Given the description of an element on the screen output the (x, y) to click on. 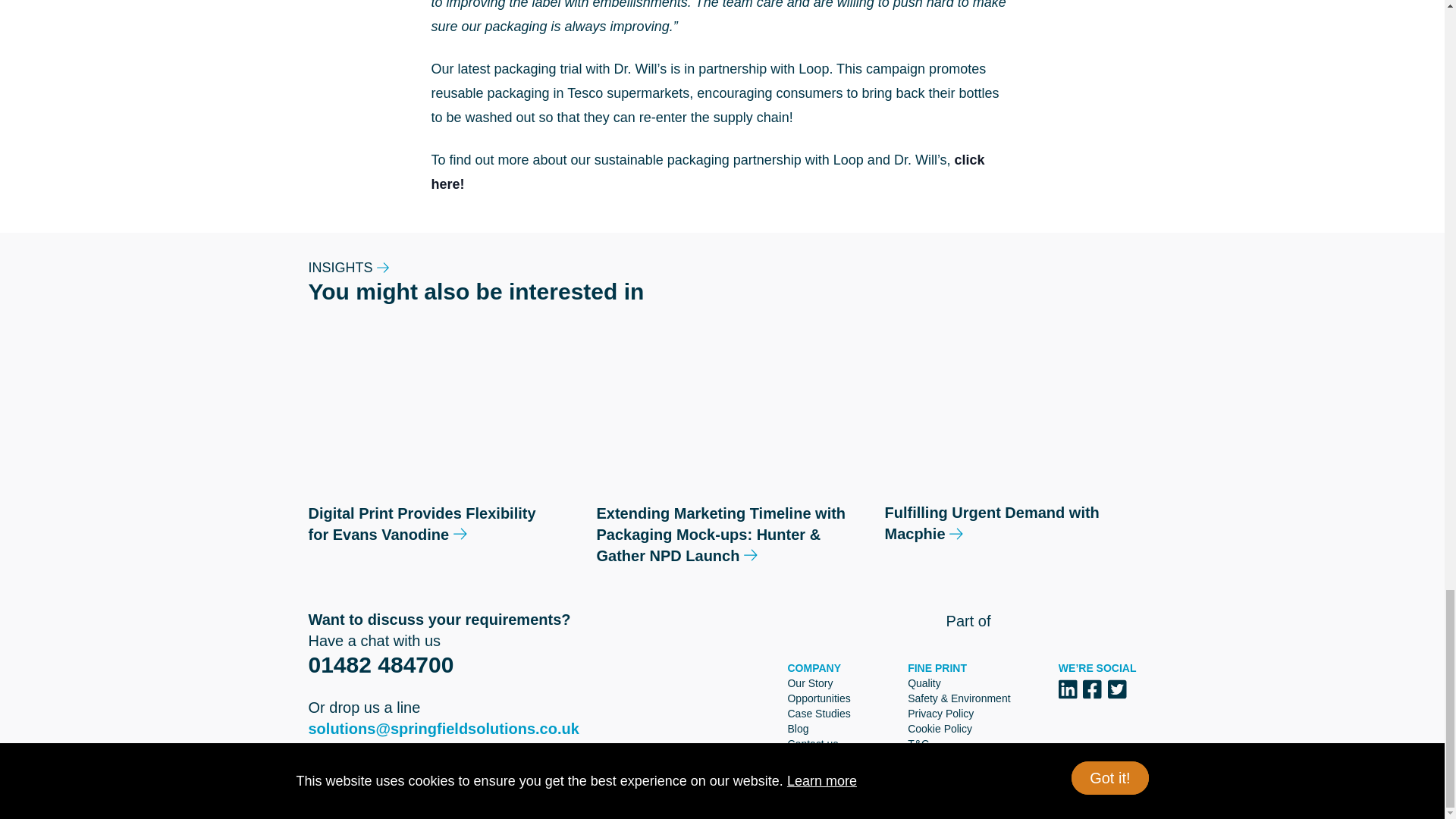
01482 484700 (379, 664)
Contact us (812, 743)
click here! (707, 171)
Privacy Policy (940, 713)
Fulfilling Urgent Demand with Macphie (1009, 454)
Blog (797, 728)
Our Story (809, 683)
Case Studies (818, 713)
Part of (1041, 620)
Quality (923, 683)
